Given the description of an element on the screen output the (x, y) to click on. 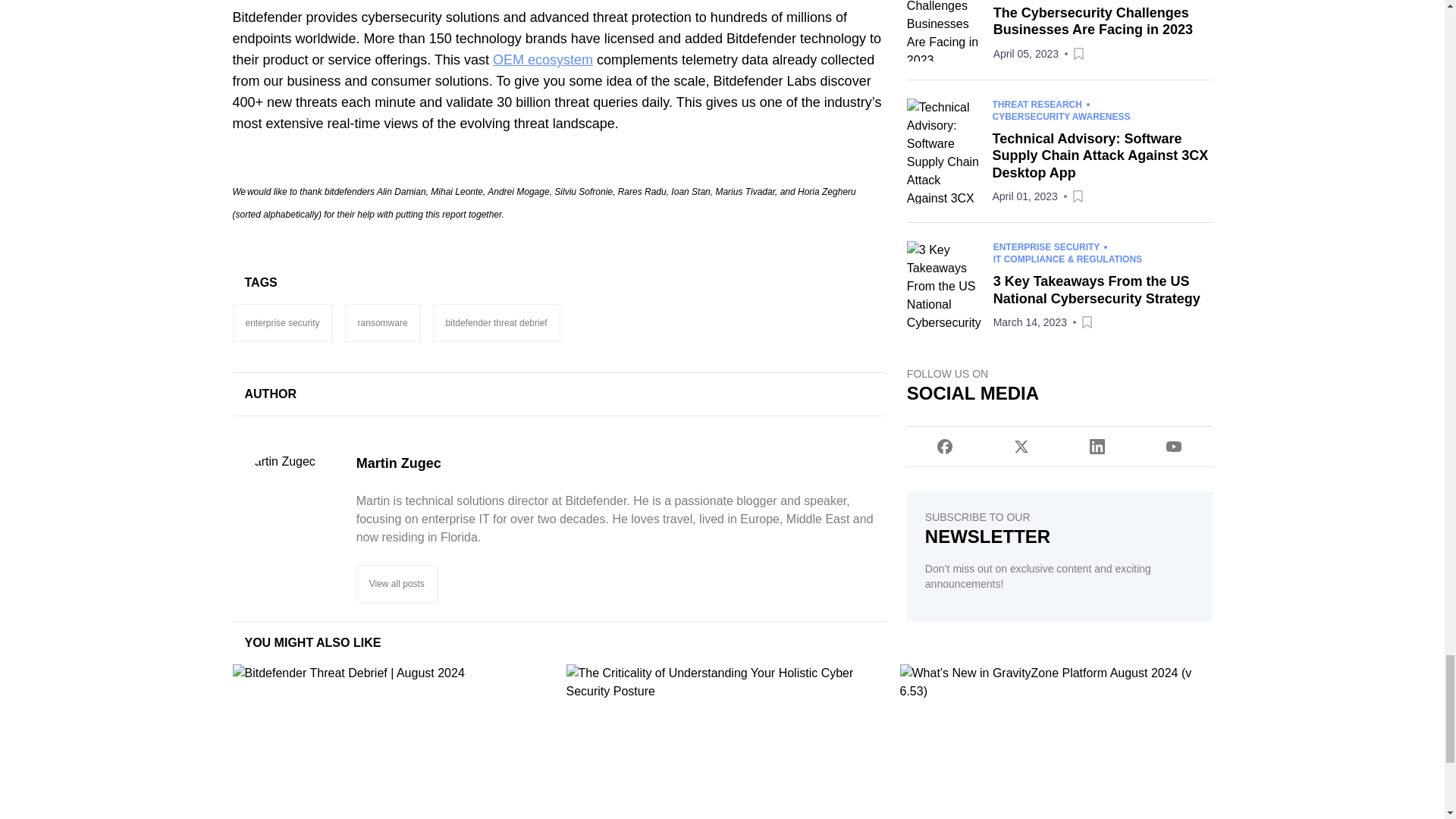
Martin Zugec (620, 463)
Enterprise Security (281, 322)
View all posts (397, 583)
bitdefender threat debrief (496, 322)
OEM ecosystem (542, 59)
enterprise security (281, 322)
ransomware (382, 322)
